Given the description of an element on the screen output the (x, y) to click on. 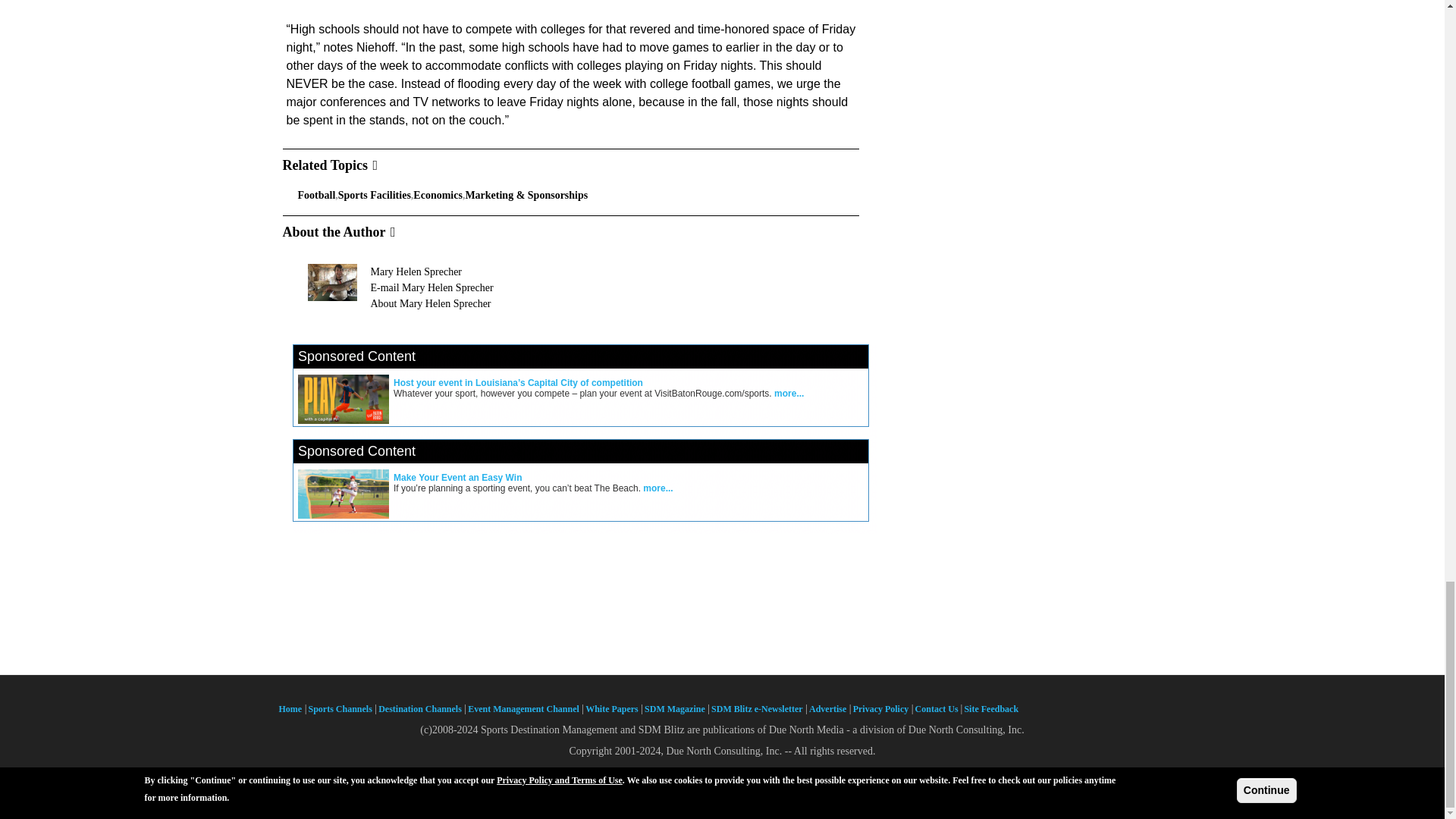
3rd party ad content (722, 617)
3rd party ad content (584, 390)
3rd party ad content (584, 485)
